Given the description of an element on the screen output the (x, y) to click on. 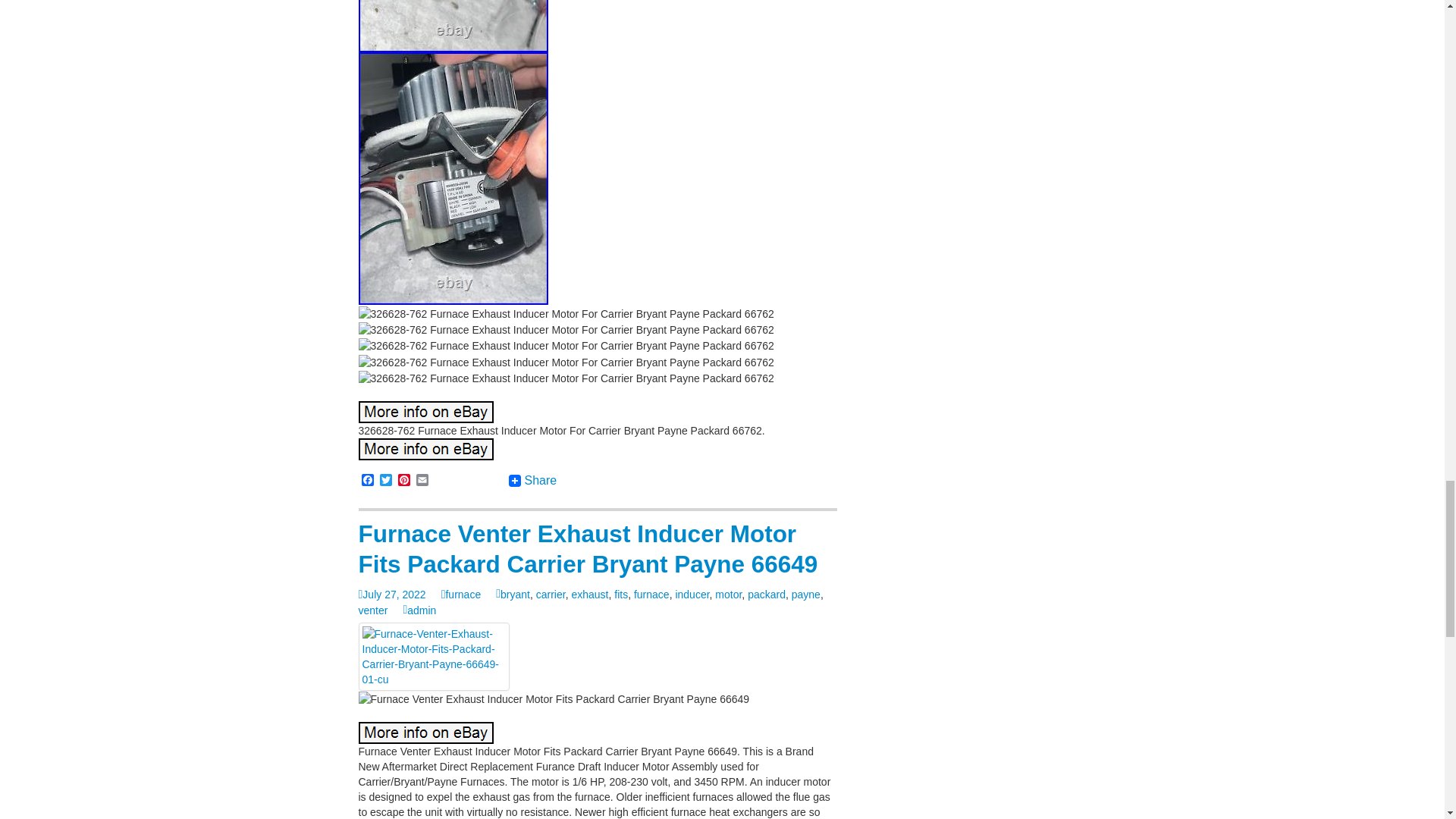
Pinterest (403, 481)
Email (421, 481)
Twitter (384, 481)
Facebook (366, 481)
